Given the description of an element on the screen output the (x, y) to click on. 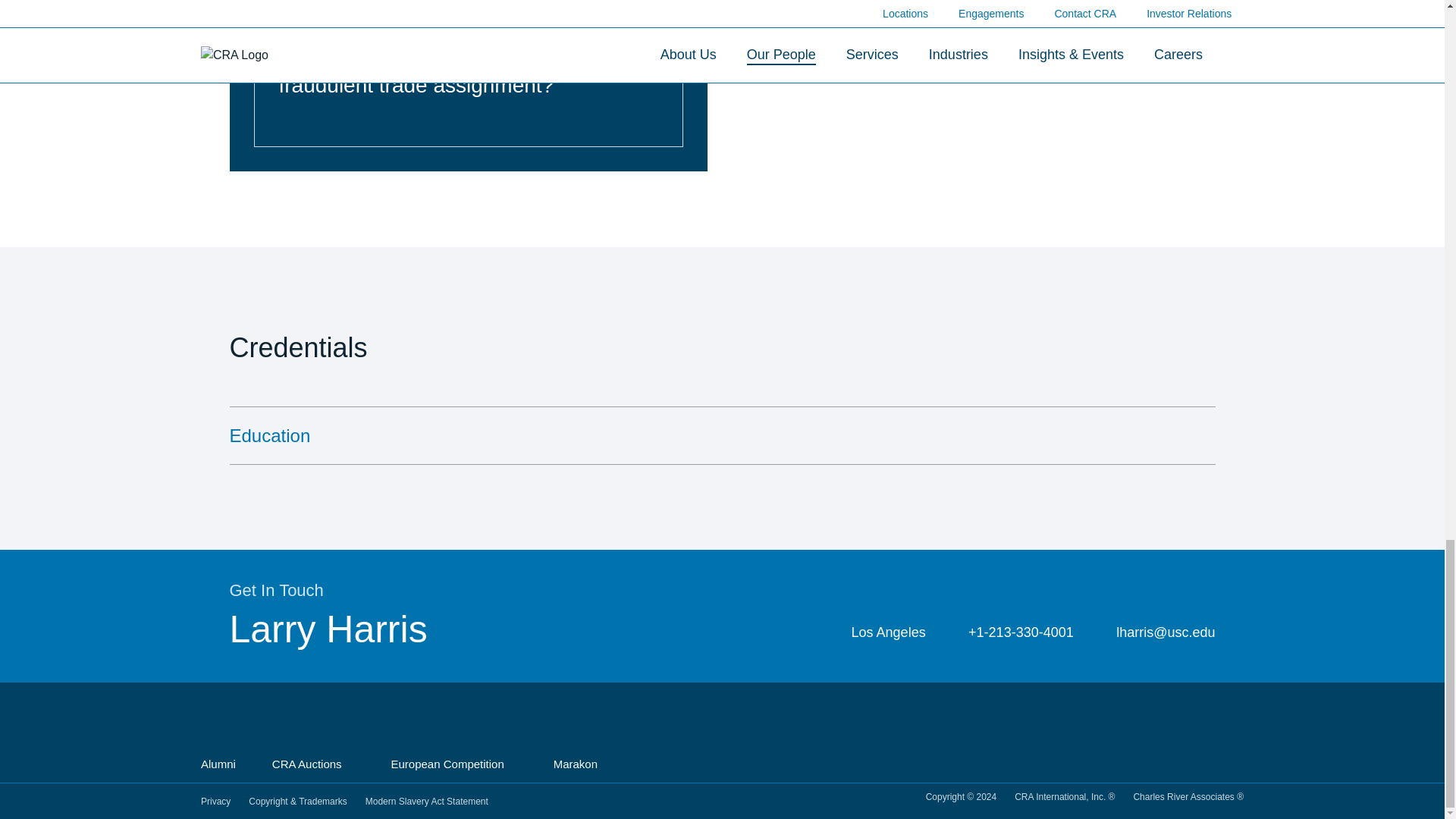
CRA Auctions (313, 763)
Alumni (217, 765)
Los Angeles (876, 632)
Education (721, 436)
Privacy (215, 802)
European Competition (453, 763)
Marakon (581, 763)
